Given the description of an element on the screen output the (x, y) to click on. 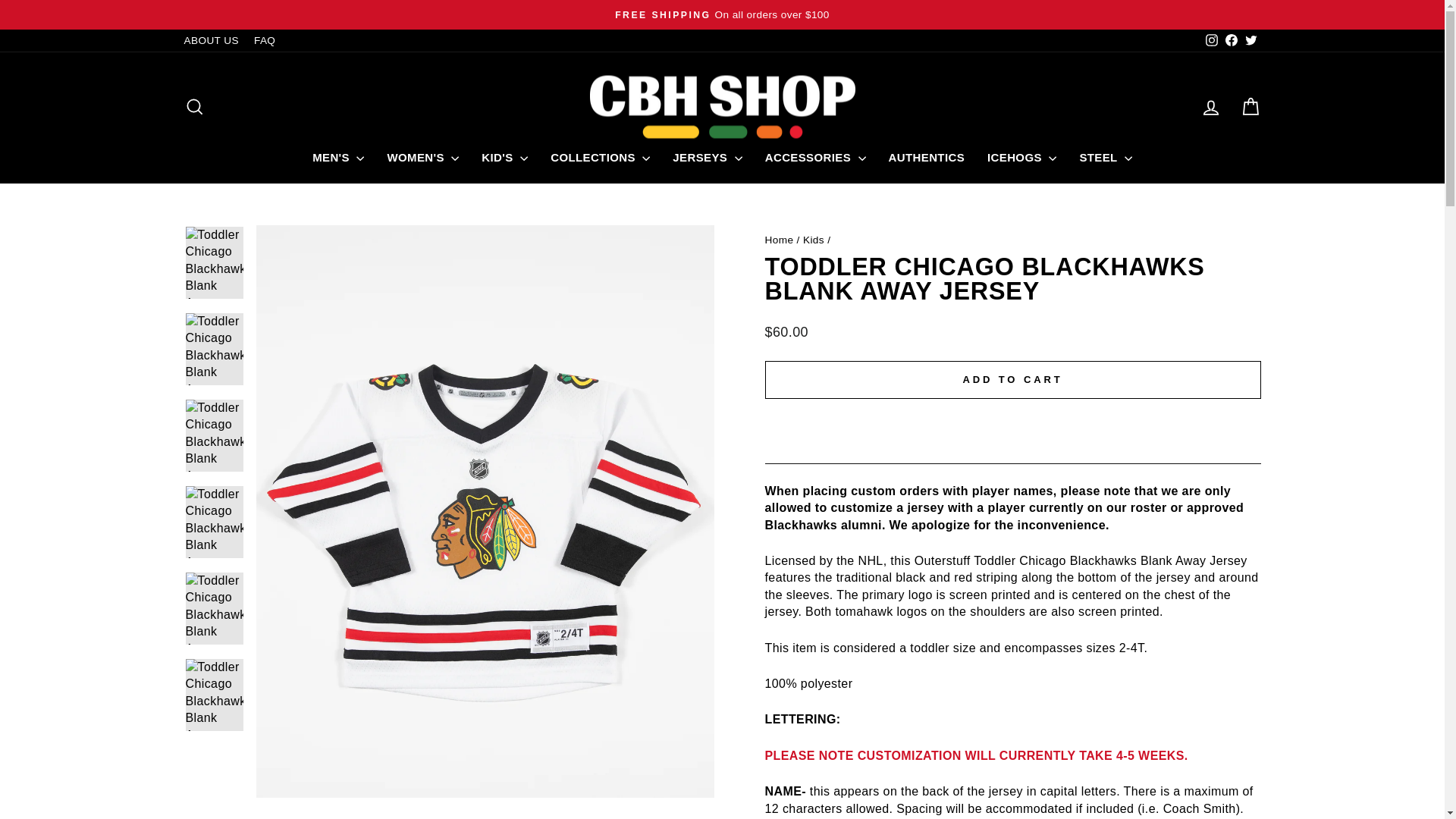
Back to the frontpage (778, 239)
instagram (1211, 39)
twitter (1250, 39)
ACCOUNT (1210, 107)
ICON-SEARCH (194, 106)
CBH Shop on Instagram (1211, 40)
CBH Shop on Twitter (1250, 40)
CBH Shop on Facebook (1230, 40)
